Given the description of an element on the screen output the (x, y) to click on. 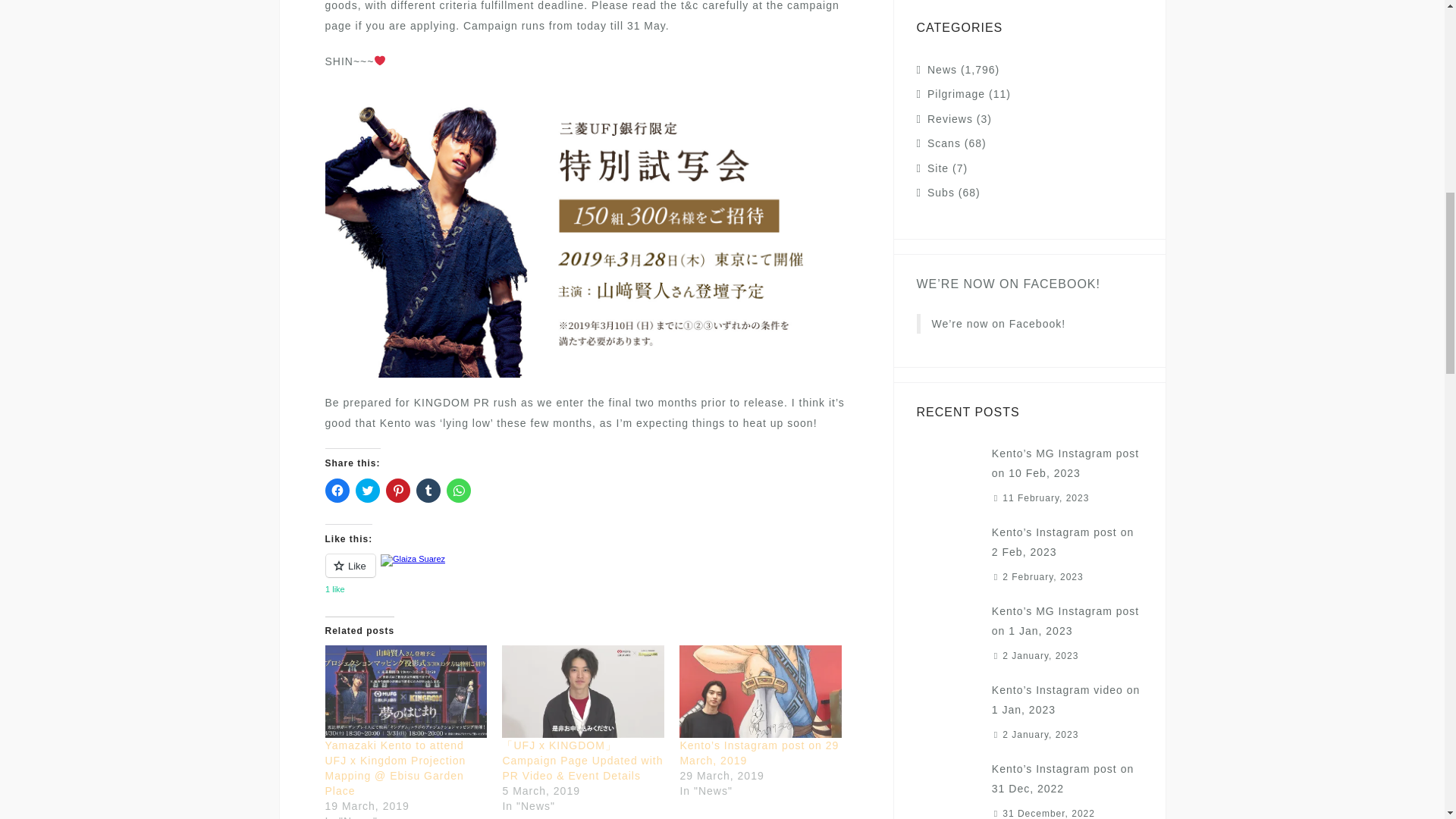
Click to share on WhatsApp (457, 490)
Click to share on Pinterest (397, 490)
Like or Reblog (585, 574)
Site (938, 168)
Pilgrimage (956, 93)
Scans (943, 143)
News (941, 69)
Click to share on Twitter (366, 490)
Reviews (949, 119)
Click to share on Facebook (336, 490)
Click to share on Tumblr (426, 490)
Subs (941, 192)
